Given the description of an element on the screen output the (x, y) to click on. 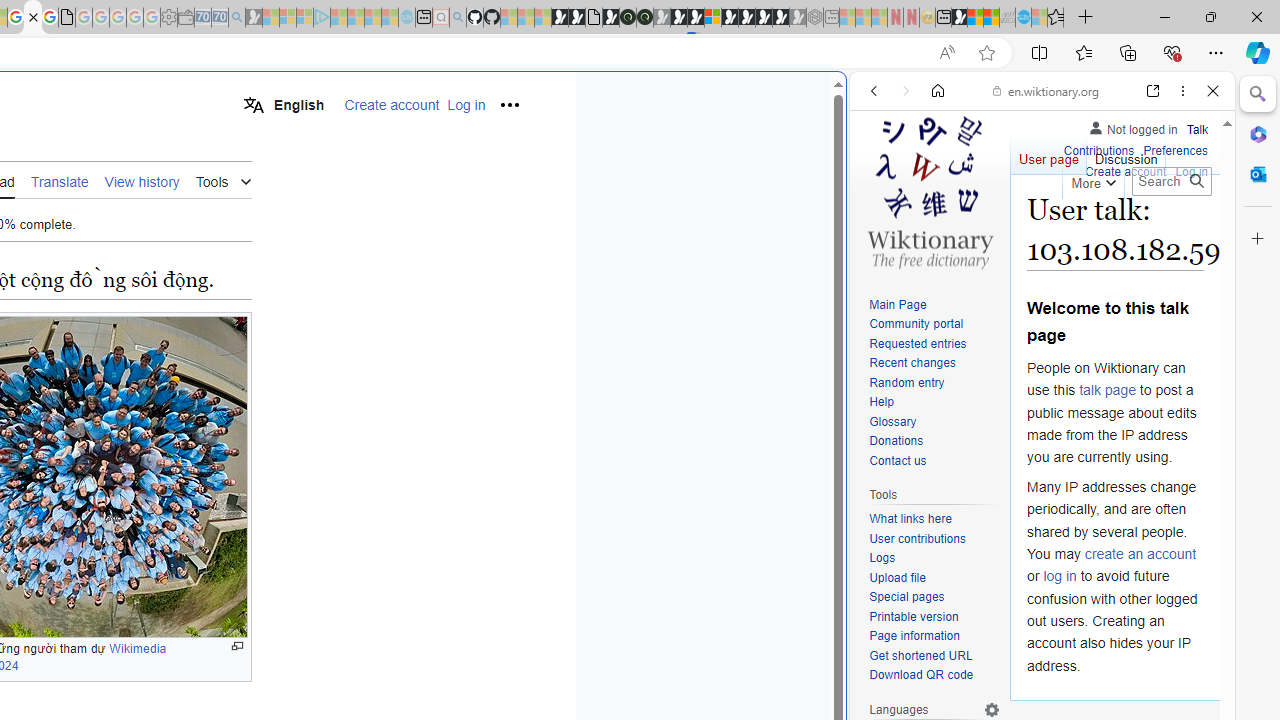
Visit the main page (929, 190)
Talk (1197, 126)
